Given the description of an element on the screen output the (x, y) to click on. 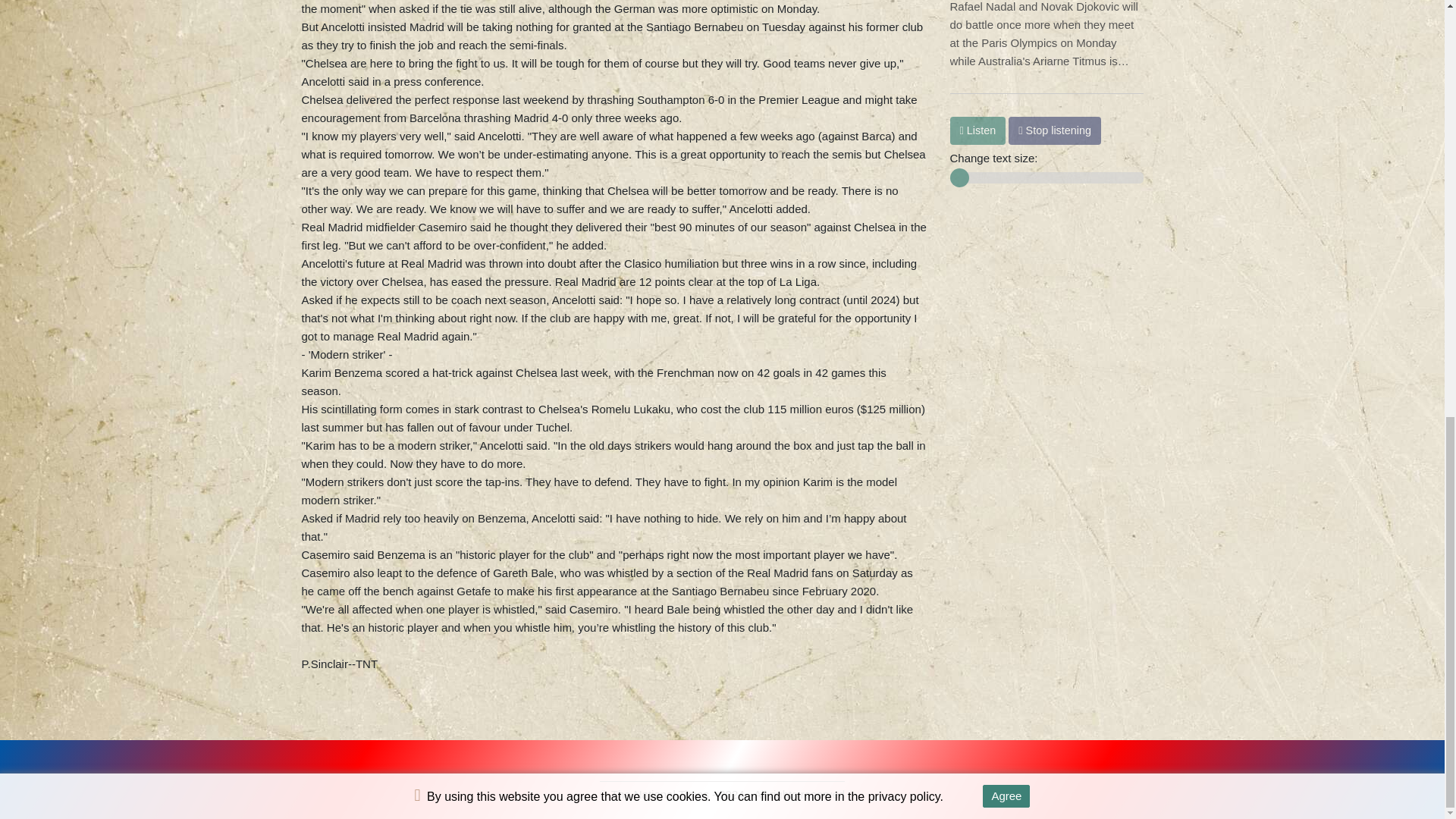
15 (1045, 177)
